Given the description of an element on the screen output the (x, y) to click on. 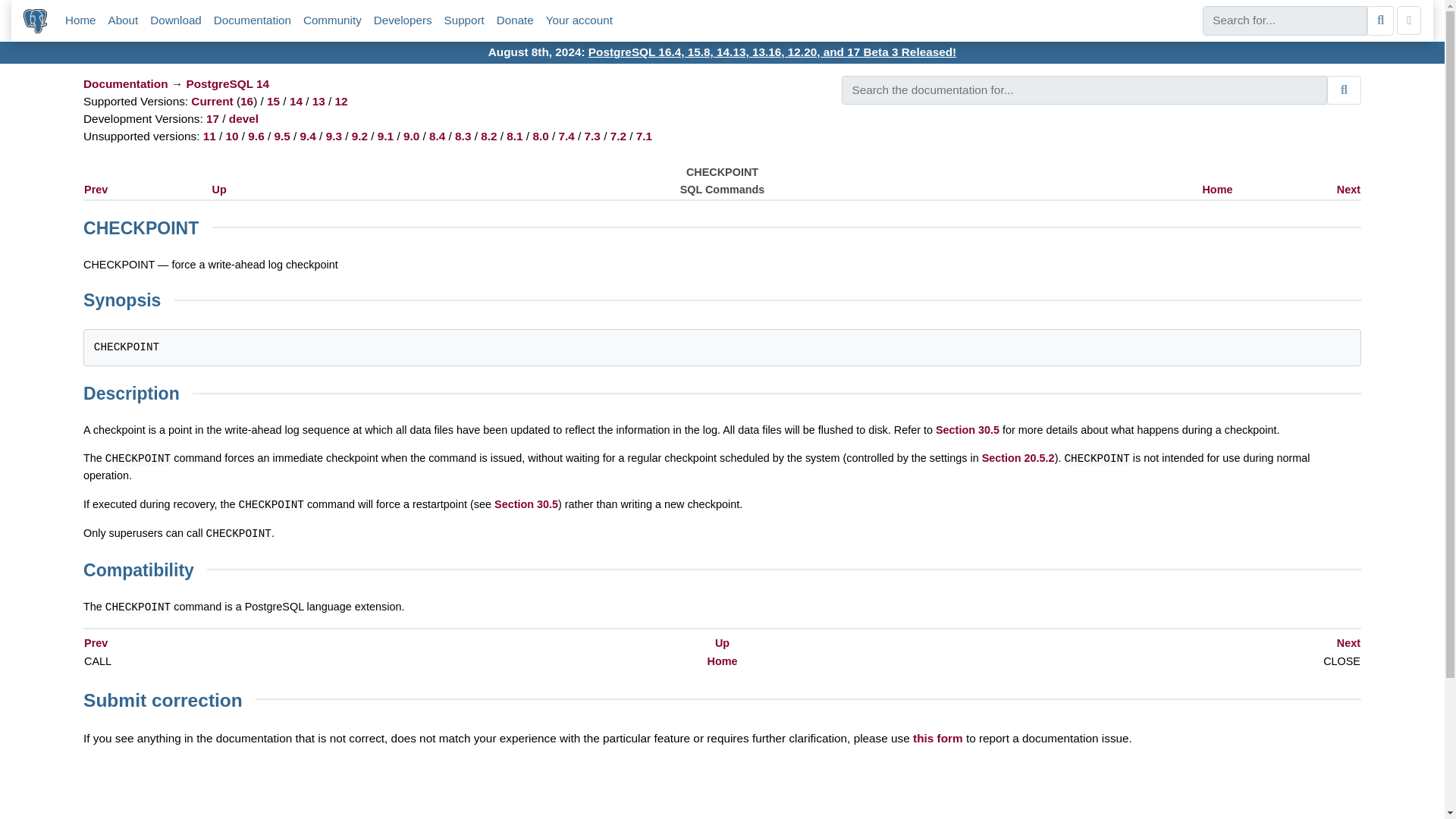
PostgreSQL 13 - CHECKPOINT (318, 101)
9.6 (255, 135)
Support (464, 19)
Documentation (252, 19)
PostgreSQL 14 (227, 83)
Your account (579, 19)
Documentation (252, 19)
PostgreSQL 12 - CHECKPOINT (340, 101)
Community (331, 19)
16 (246, 101)
